Given the description of an element on the screen output the (x, y) to click on. 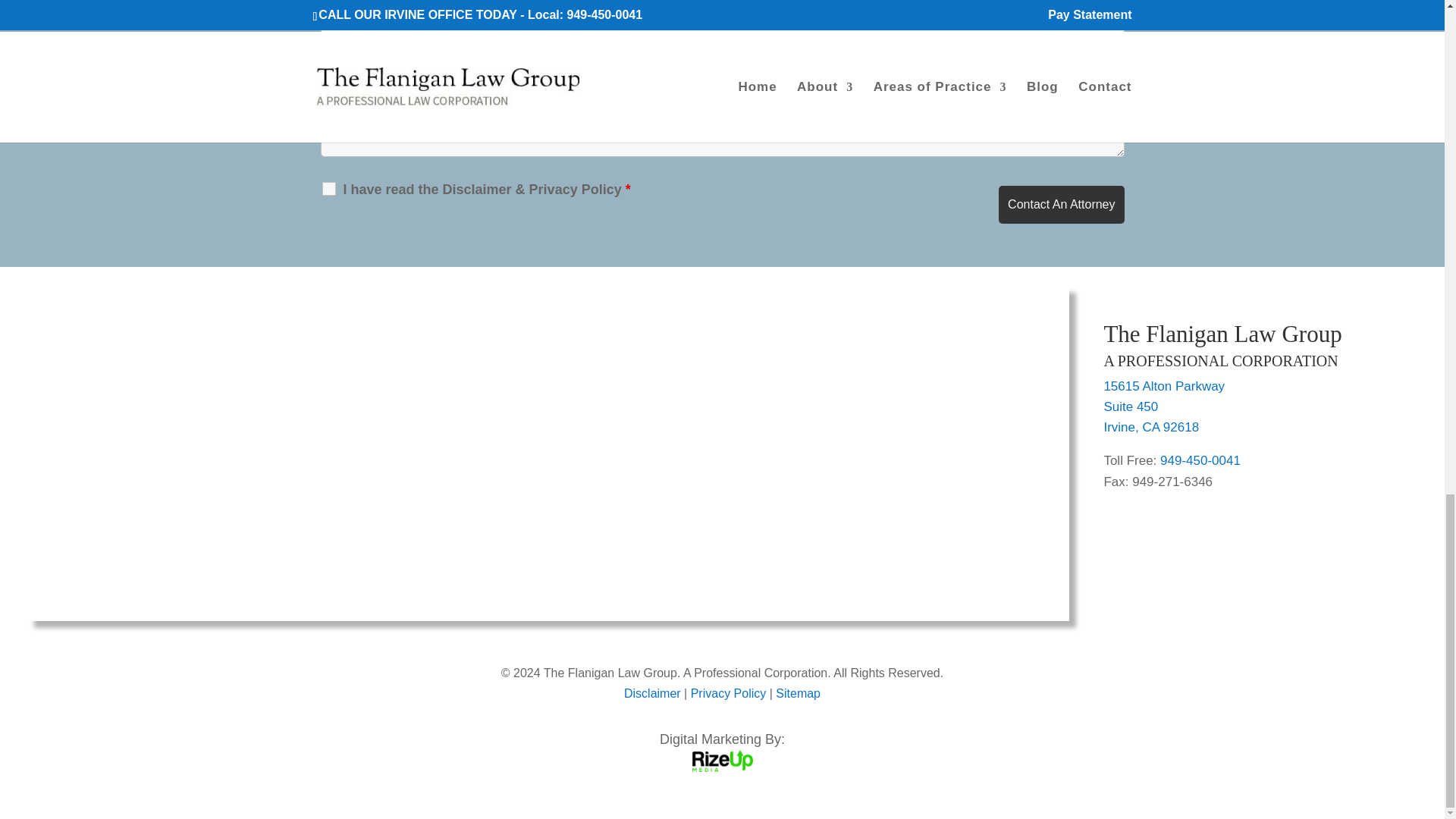
Open in Google Maps (1163, 386)
Open in Google Maps (1130, 406)
Open in Google Maps (1150, 427)
Touch to Dial (1200, 460)
Contact An Attorney (1061, 204)
